Given the description of an element on the screen output the (x, y) to click on. 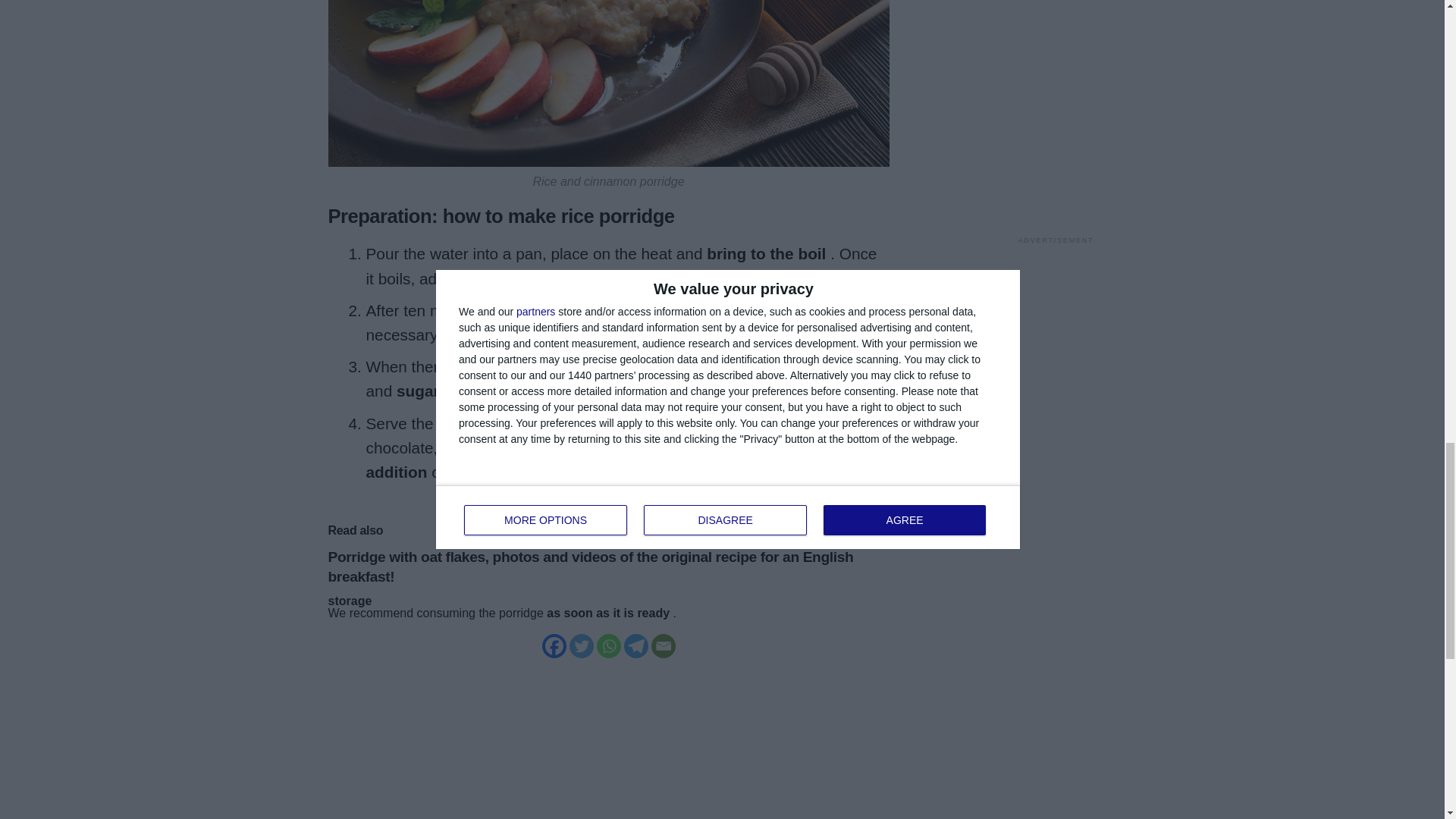
Telegram (635, 645)
Facebook (553, 645)
Whatsapp (607, 645)
Email (662, 645)
Twitter (580, 645)
